Given the description of an element on the screen output the (x, y) to click on. 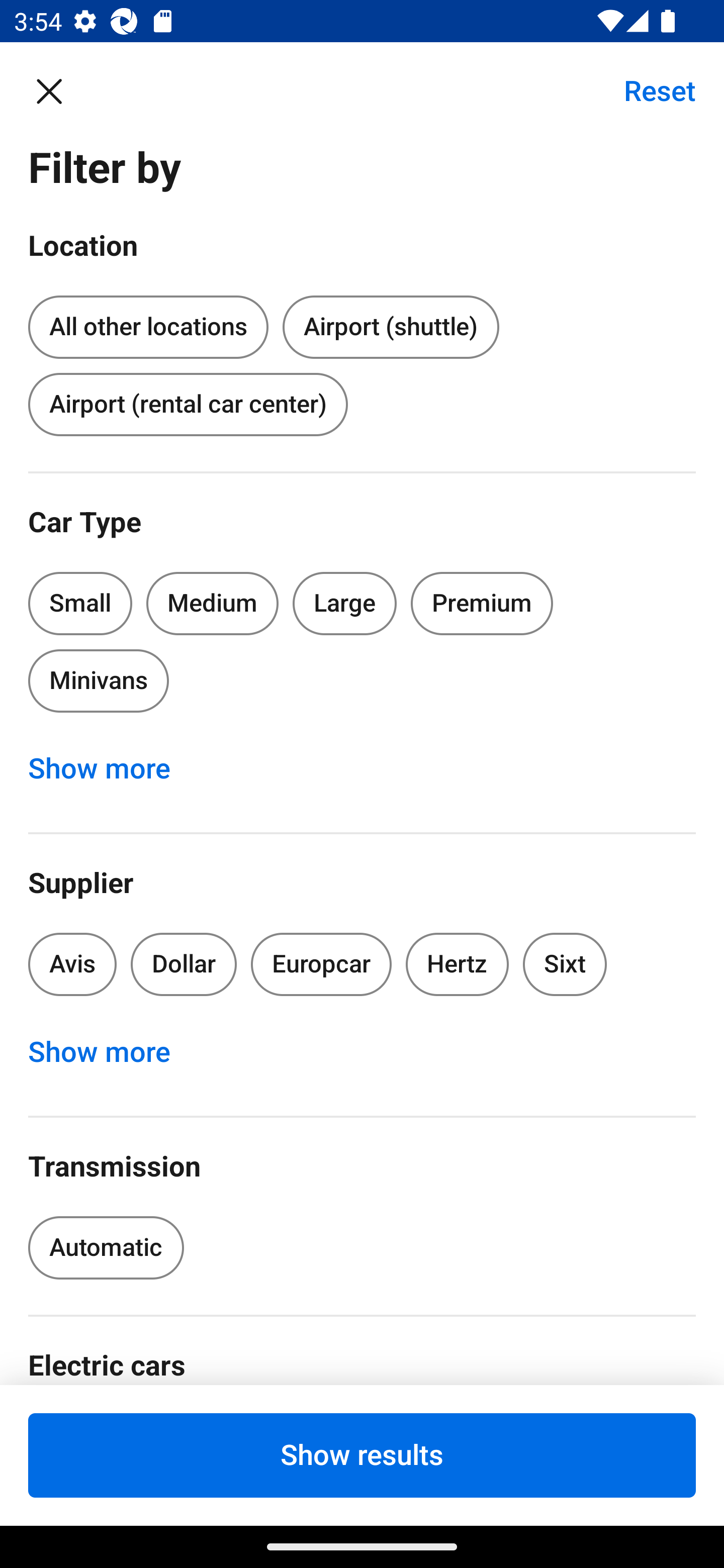
Close (59, 90)
Reset (649, 90)
All other locations (148, 323)
Airport (shuttle) (390, 327)
Airport (rental car center) (187, 404)
Small (80, 603)
Medium (212, 603)
Large (344, 603)
Premium (482, 603)
Minivans (98, 680)
Show more (109, 767)
Avis (72, 963)
Dollar (183, 963)
Europcar (321, 963)
Hertz (457, 963)
Sixt (564, 963)
Show more (109, 1051)
Automatic (105, 1247)
Show results (361, 1454)
